Given the description of an element on the screen output the (x, y) to click on. 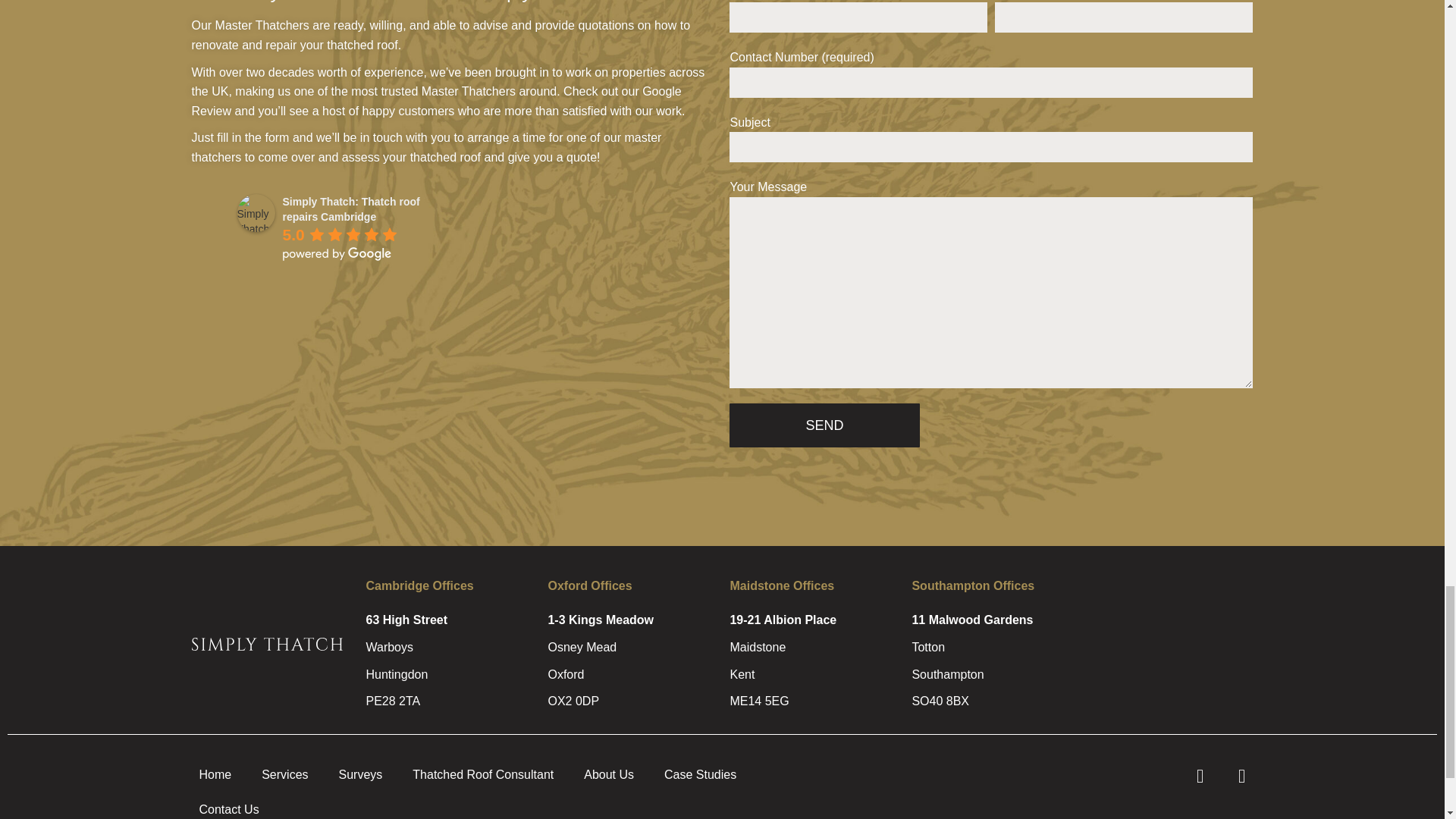
powered by Google (336, 254)
Send (823, 425)
Simply Thatch: Thatch roof repairs Cambridge (255, 212)
